Given the description of an element on the screen output the (x, y) to click on. 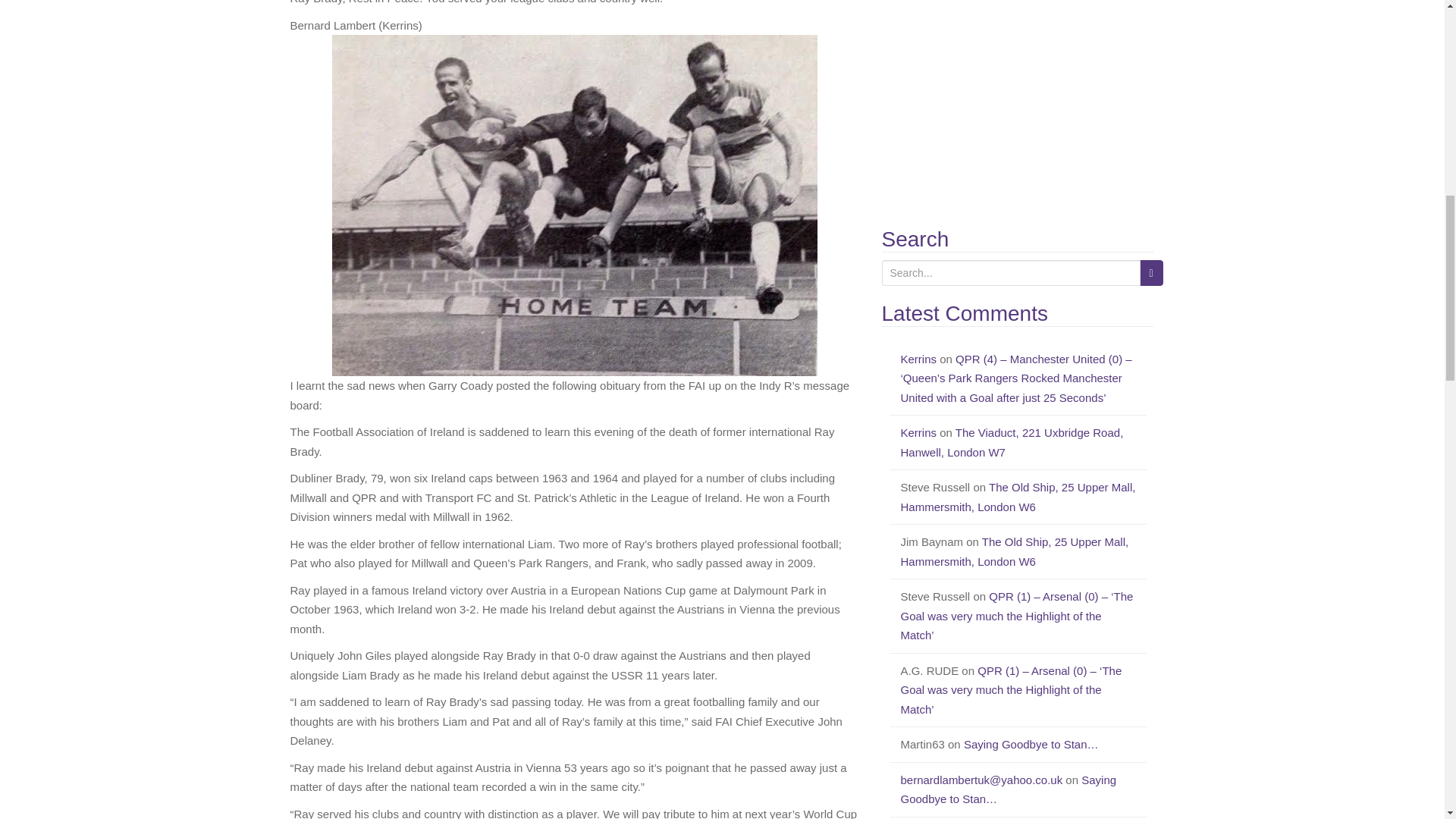
The Viaduct, 221 Uxbridge Road, Hanwell, London W7 (1012, 441)
Kerrins (919, 431)
The Old Ship, 25 Upper Mall, Hammersmith, London W6 (1015, 551)
Kerrins (919, 358)
The Old Ship, 25 Upper Mall, Hammersmith, London W6 (1018, 496)
